Given the description of an element on the screen output the (x, y) to click on. 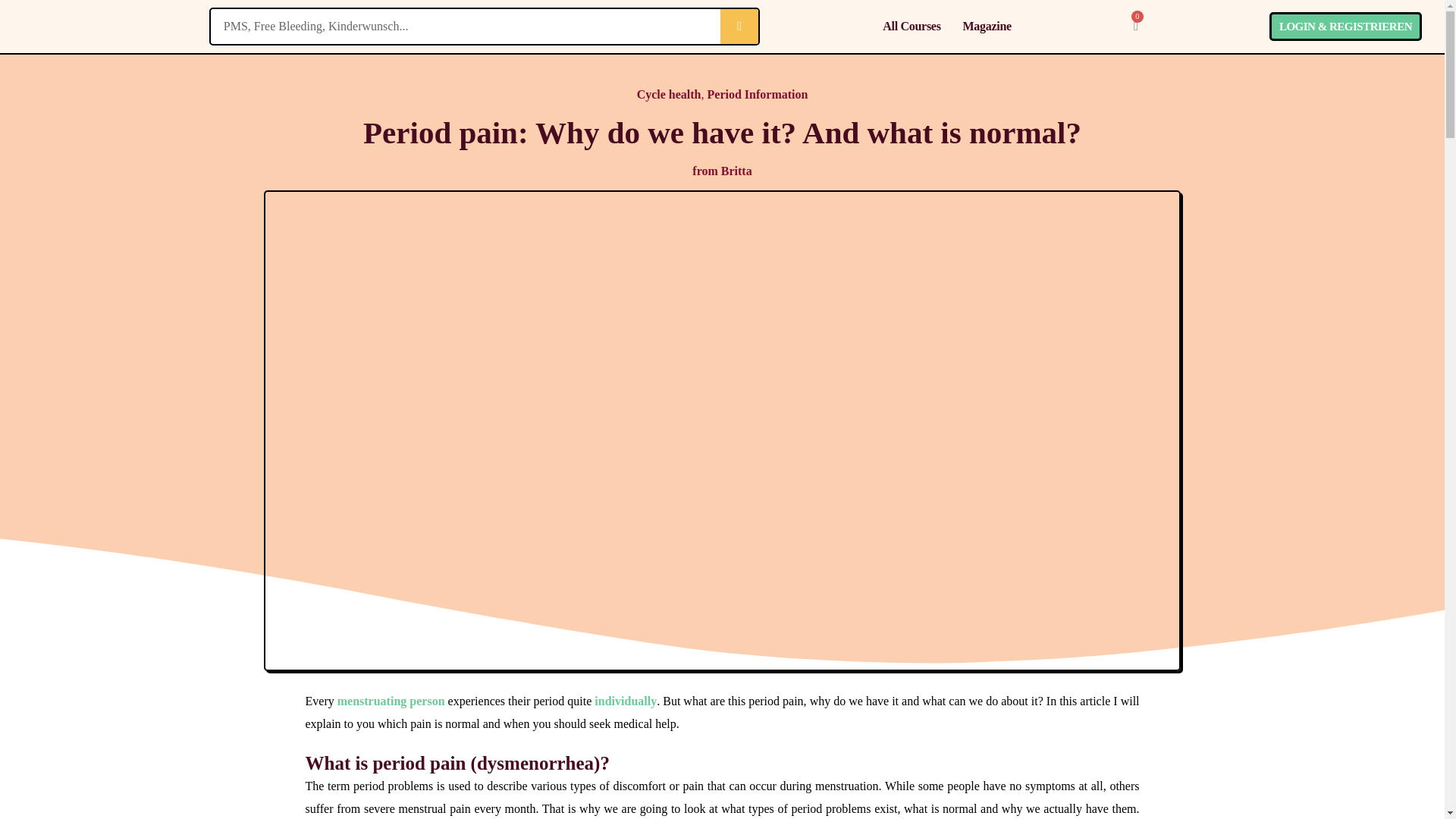
menstruating person (391, 700)
individually (625, 700)
Magazine (986, 26)
0 (1135, 26)
Period Information (757, 93)
from Britta (722, 170)
Cycle health (669, 93)
All Courses (911, 26)
